Given the description of an element on the screen output the (x, y) to click on. 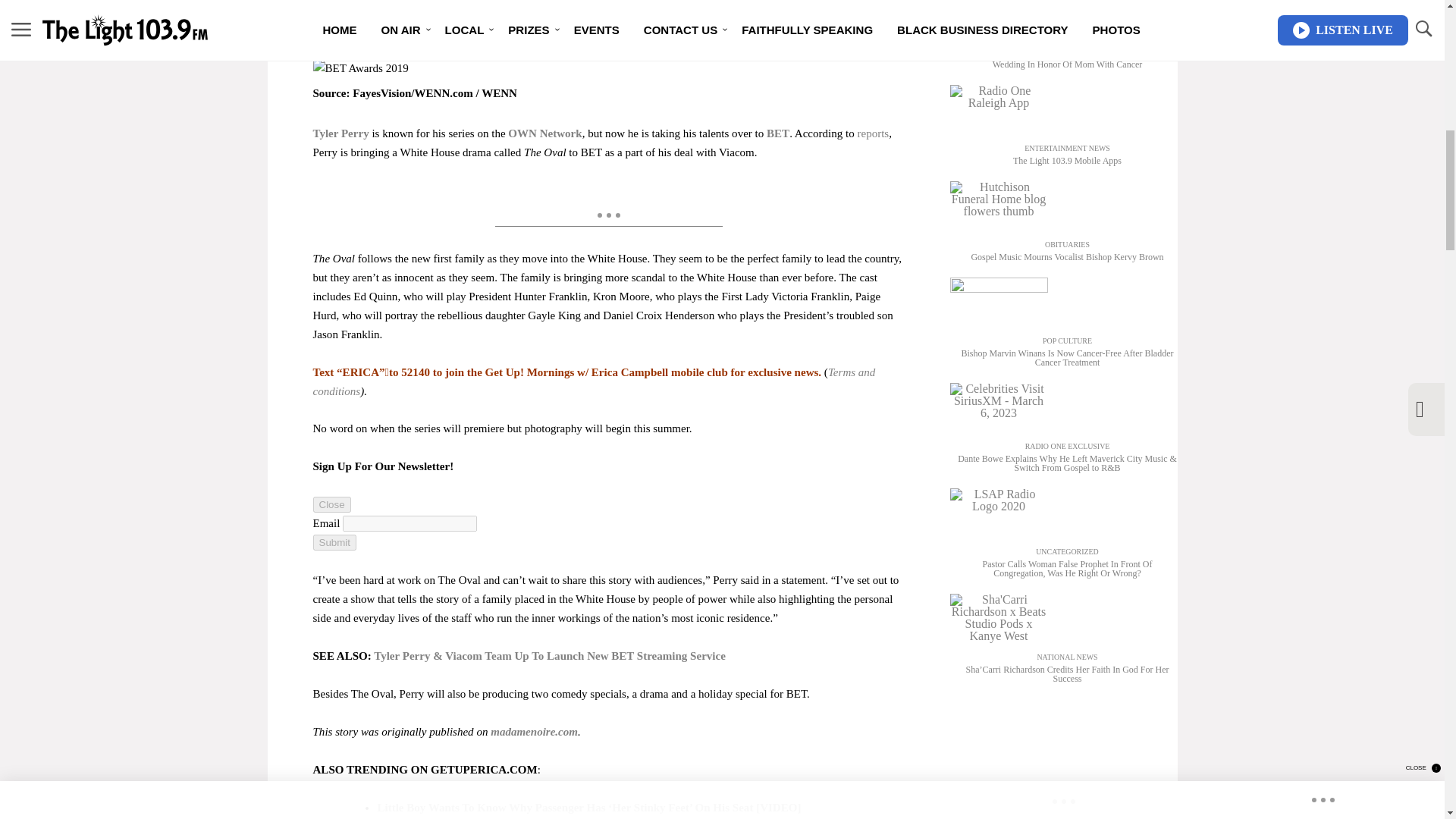
Submit (334, 542)
OWN Network (544, 133)
Terms and conditions (594, 381)
BET (778, 133)
reports (872, 133)
Tyler Perry (340, 133)
Close (331, 504)
